Given the description of an element on the screen output the (x, y) to click on. 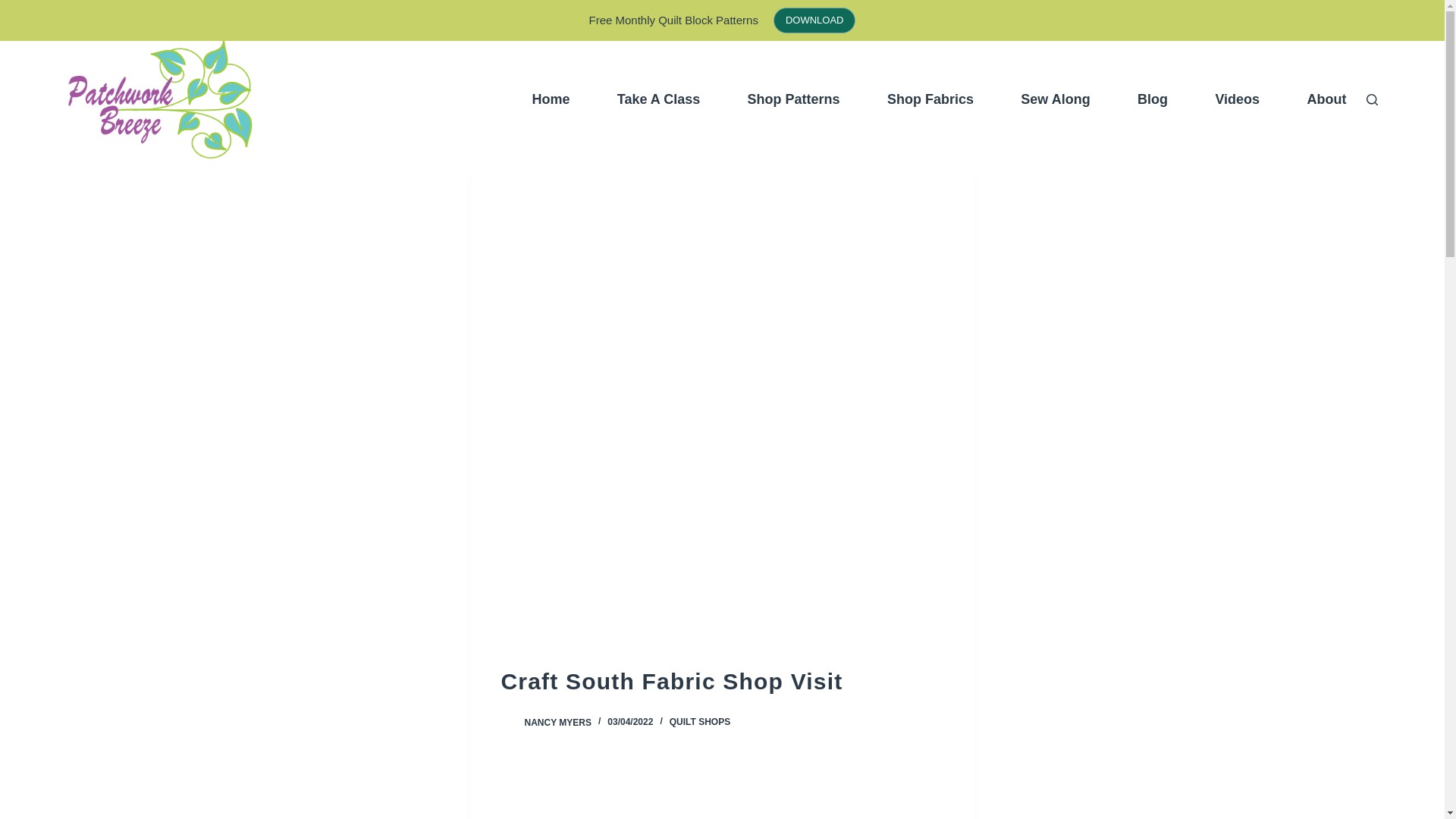
QUILT SHOPS (699, 721)
NANCY MYERS (557, 721)
Craft South Fabric Shop Visit (721, 681)
Skip to content (15, 7)
Posts by Nancy Myers (557, 721)
DOWNLOAD (814, 20)
